Given the description of an element on the screen output the (x, y) to click on. 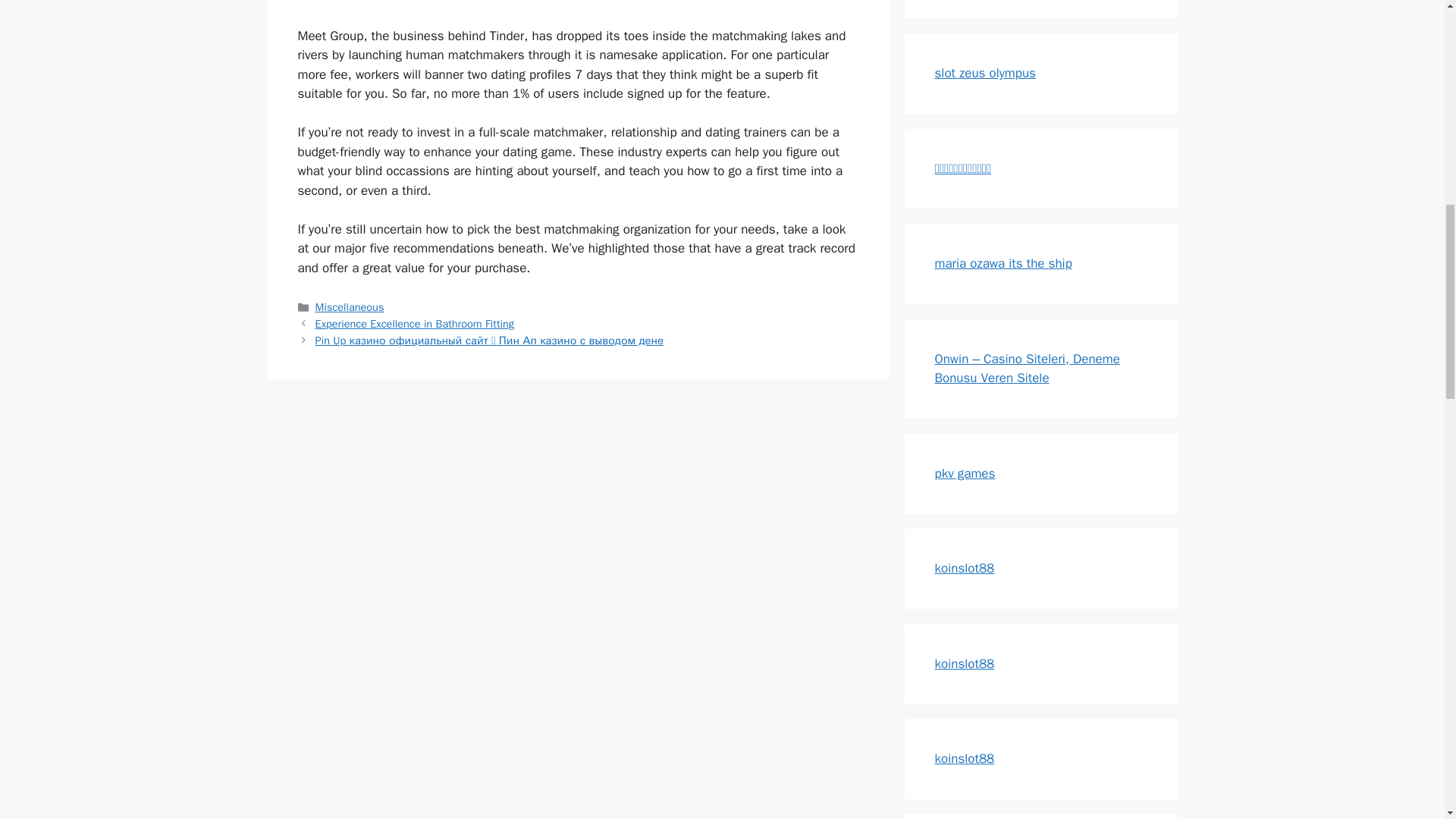
maria ozawa its the ship (1002, 263)
koinslot88 (964, 758)
koinslot88 (964, 662)
koinslot88 (964, 568)
pkv games (964, 473)
Miscellaneous (349, 306)
Experience Excellence in Bathroom Fitting (414, 323)
slot zeus olympus (984, 73)
